Given the description of an element on the screen output the (x, y) to click on. 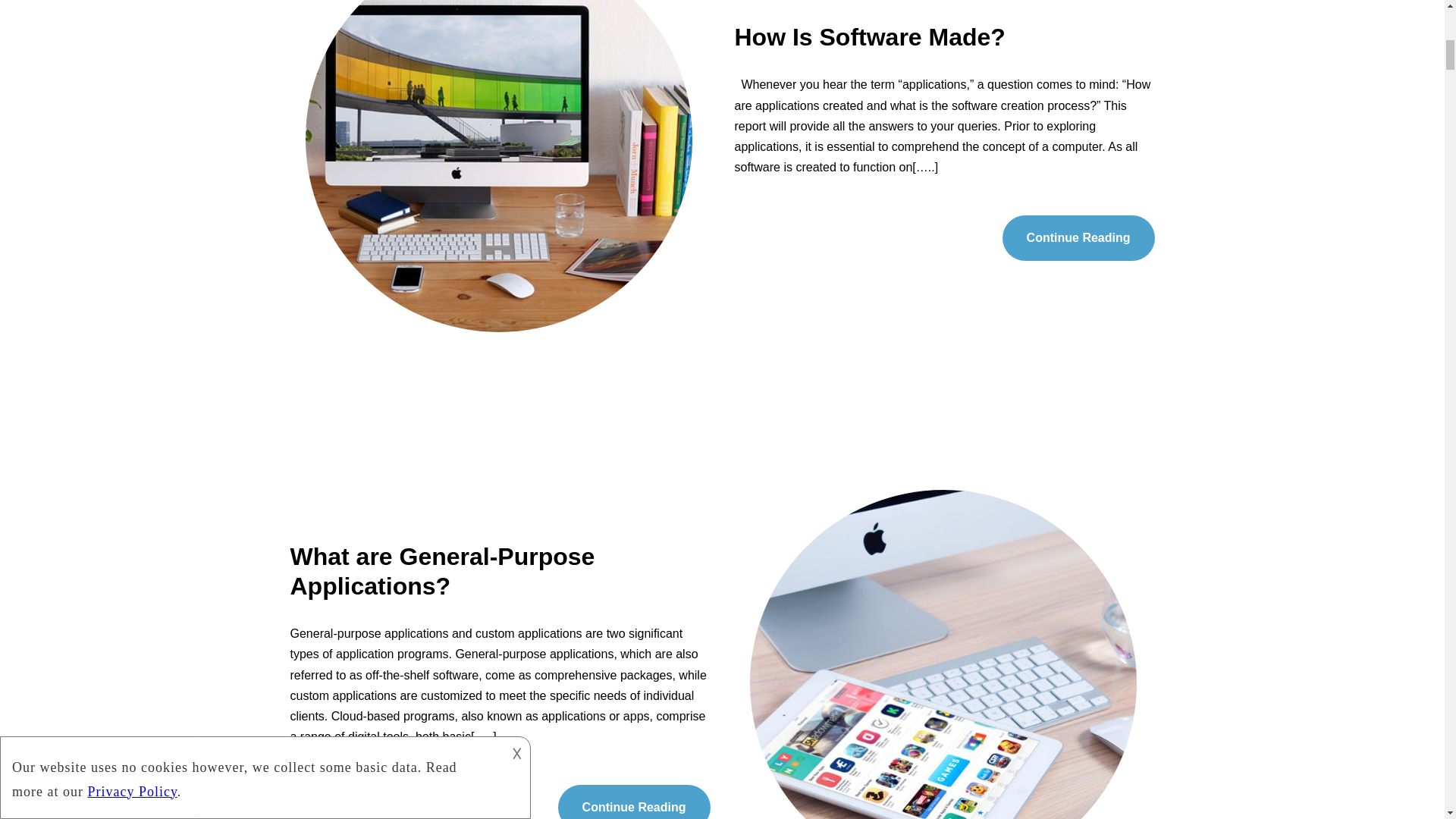
Continue Reading (633, 801)
Continue Reading (1078, 237)
